Given the description of an element on the screen output the (x, y) to click on. 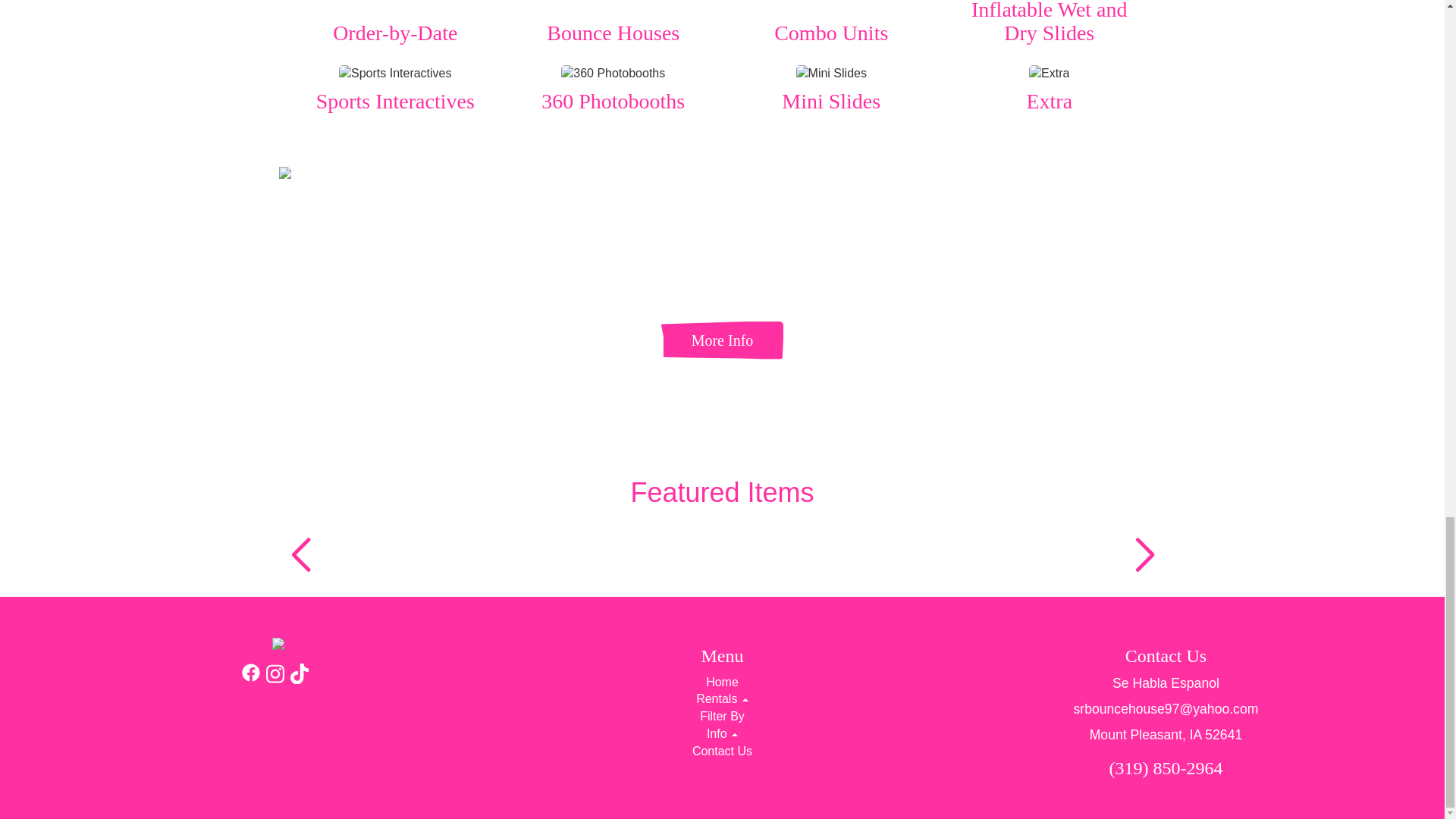
Home (722, 681)
More Info (722, 340)
Sports Interactives (395, 73)
360 Photobooths (612, 73)
Rentals (721, 698)
Mini Slides (831, 73)
Extra (1048, 73)
